Given the description of an element on the screen output the (x, y) to click on. 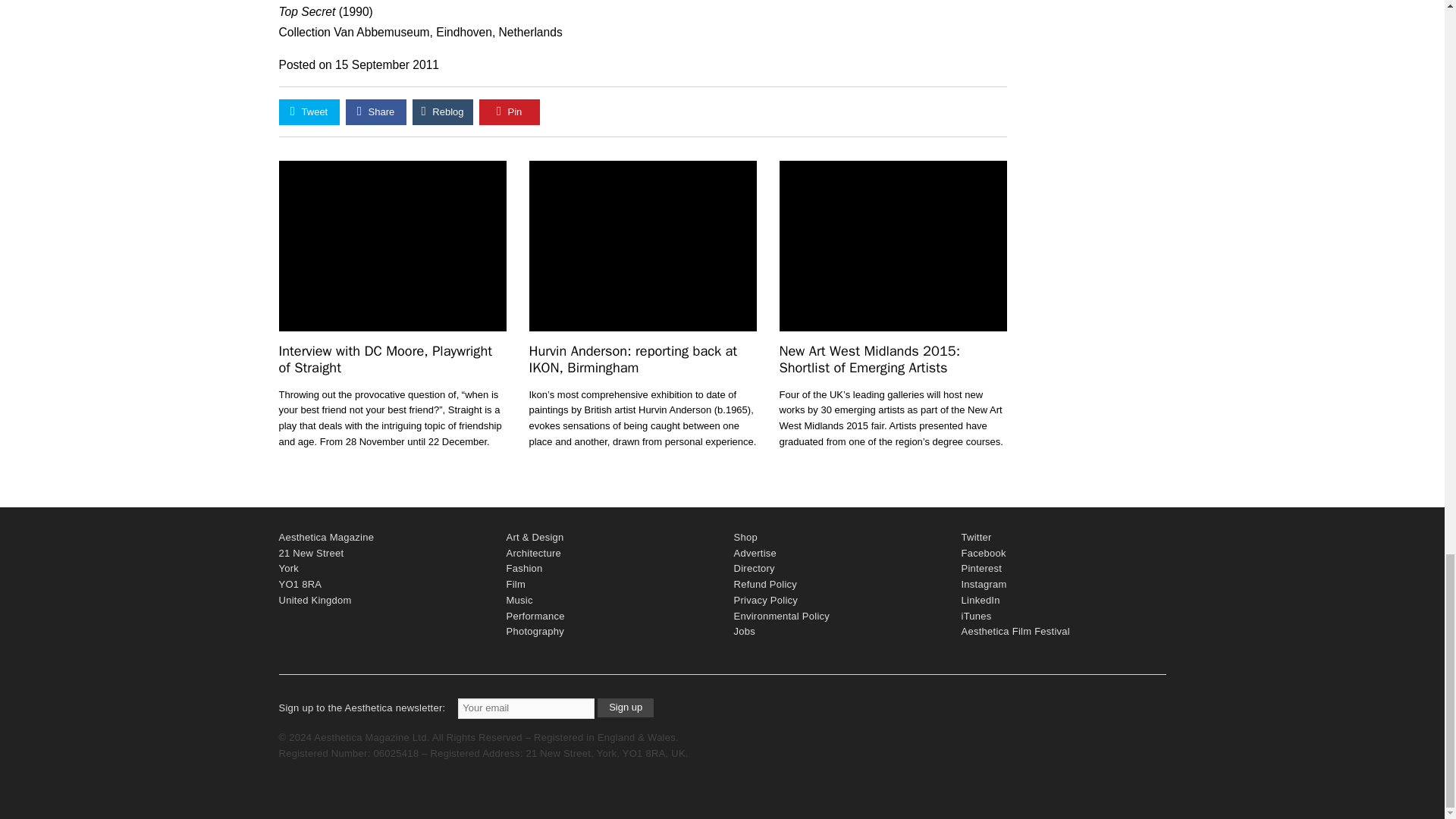
Reblog (442, 112)
Tweet (309, 112)
Share (376, 112)
